Given the description of an element on the screen output the (x, y) to click on. 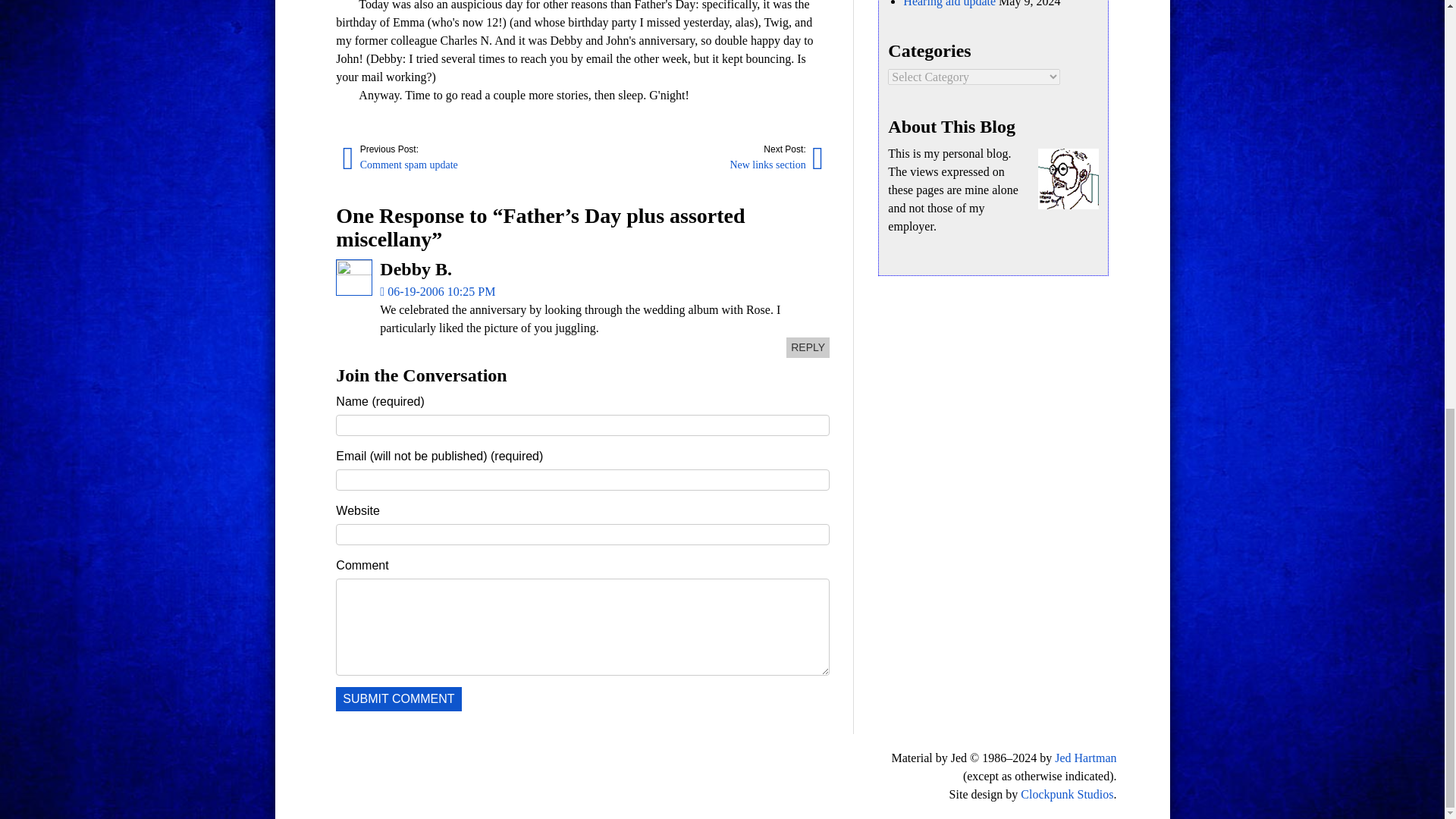
Submit Comment (398, 699)
